Given the description of an element on the screen output the (x, y) to click on. 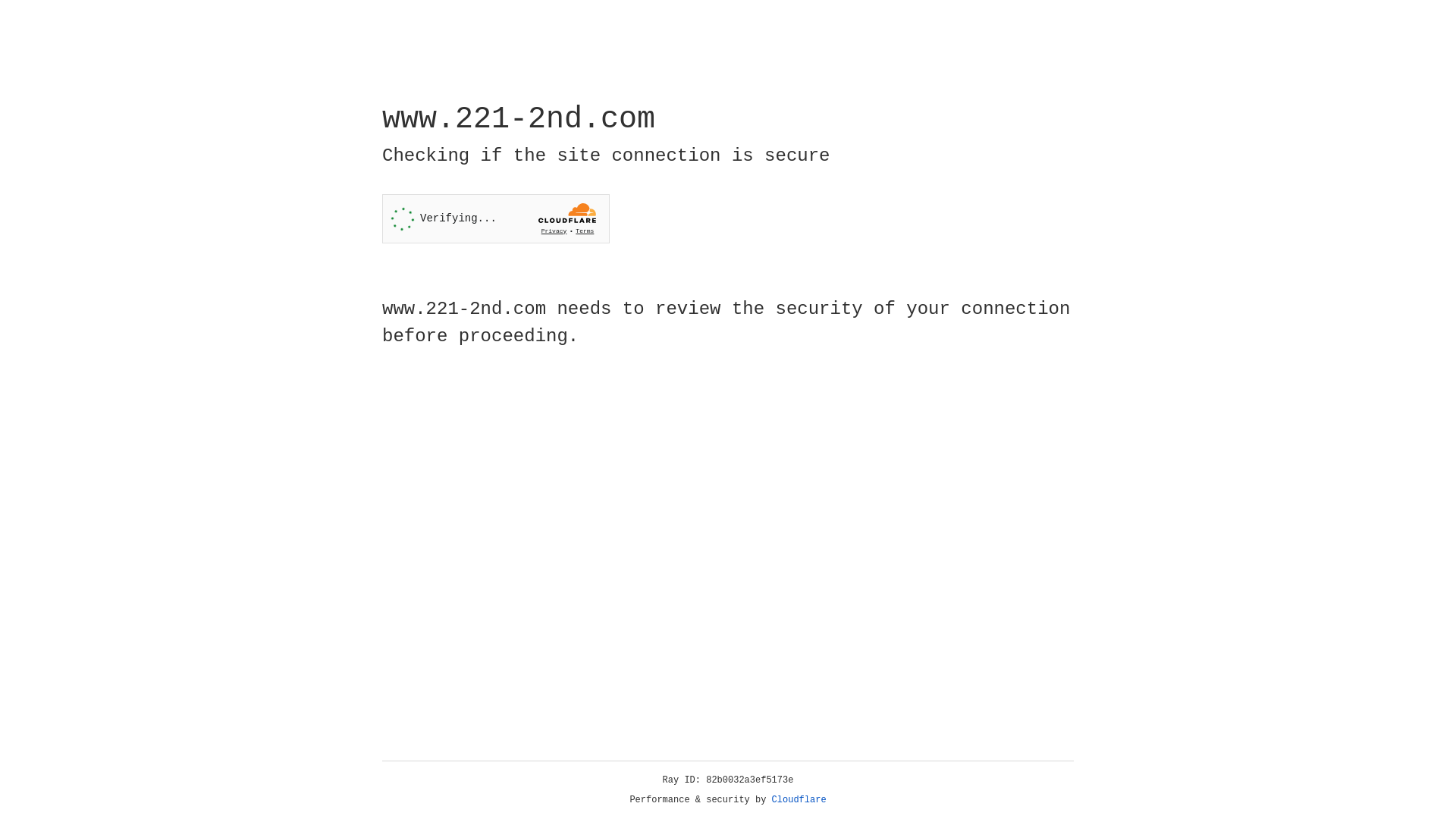
Cloudflare Element type: text (798, 799)
Widget containing a Cloudflare security challenge Element type: hover (495, 218)
